Given the description of an element on the screen output the (x, y) to click on. 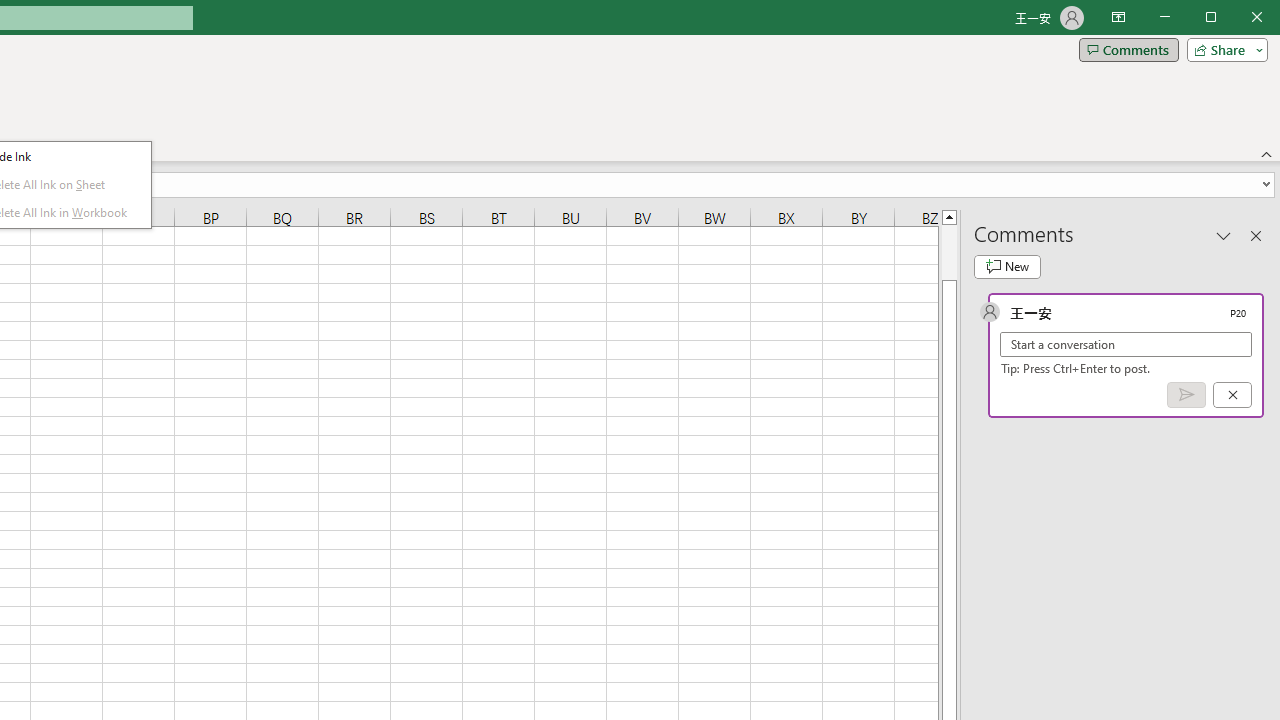
New comment (1007, 266)
